Given the description of an element on the screen output the (x, y) to click on. 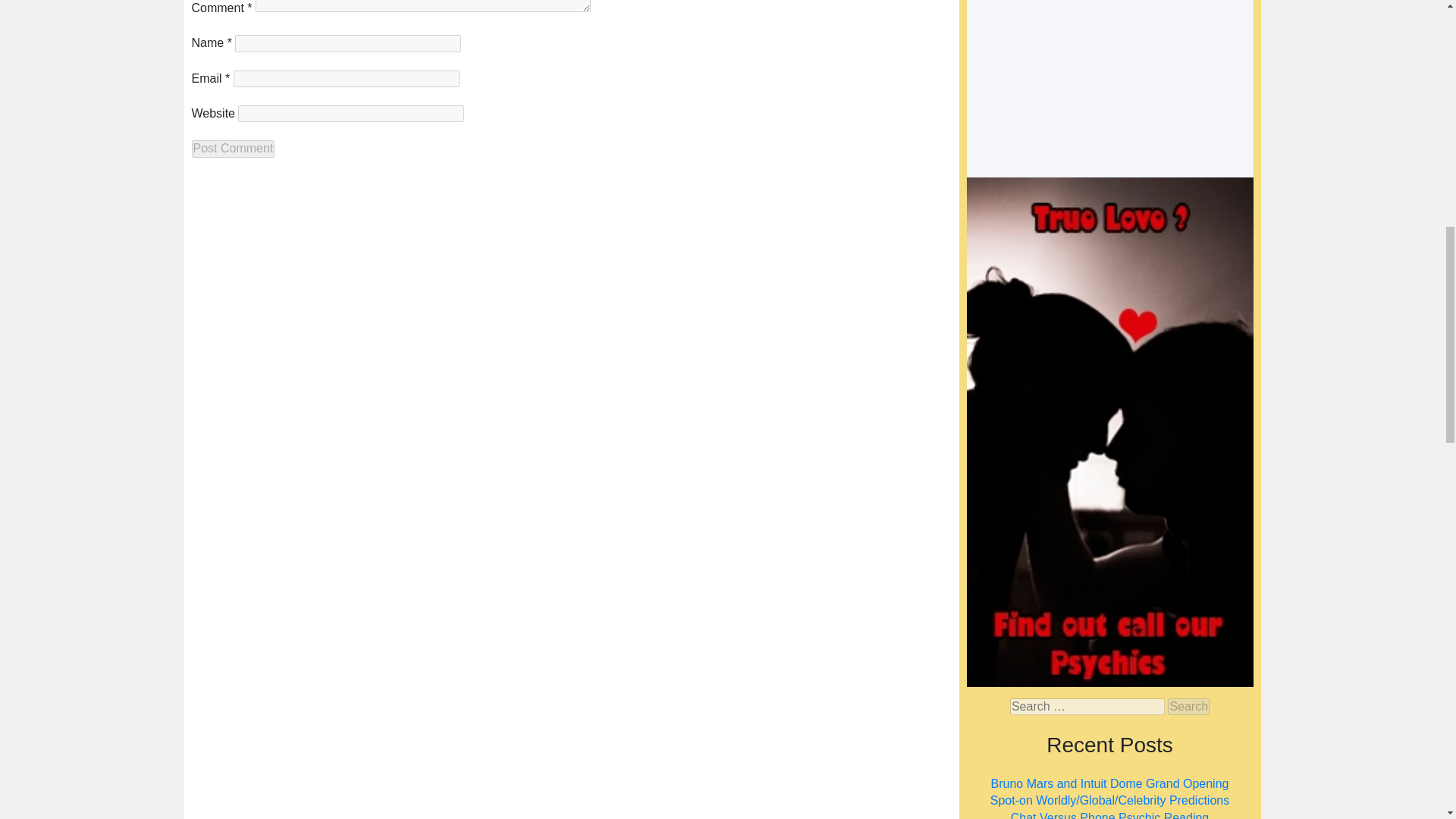
Post Comment (232, 148)
Search (1188, 706)
Search (1188, 706)
